Given the description of an element on the screen output the (x, y) to click on. 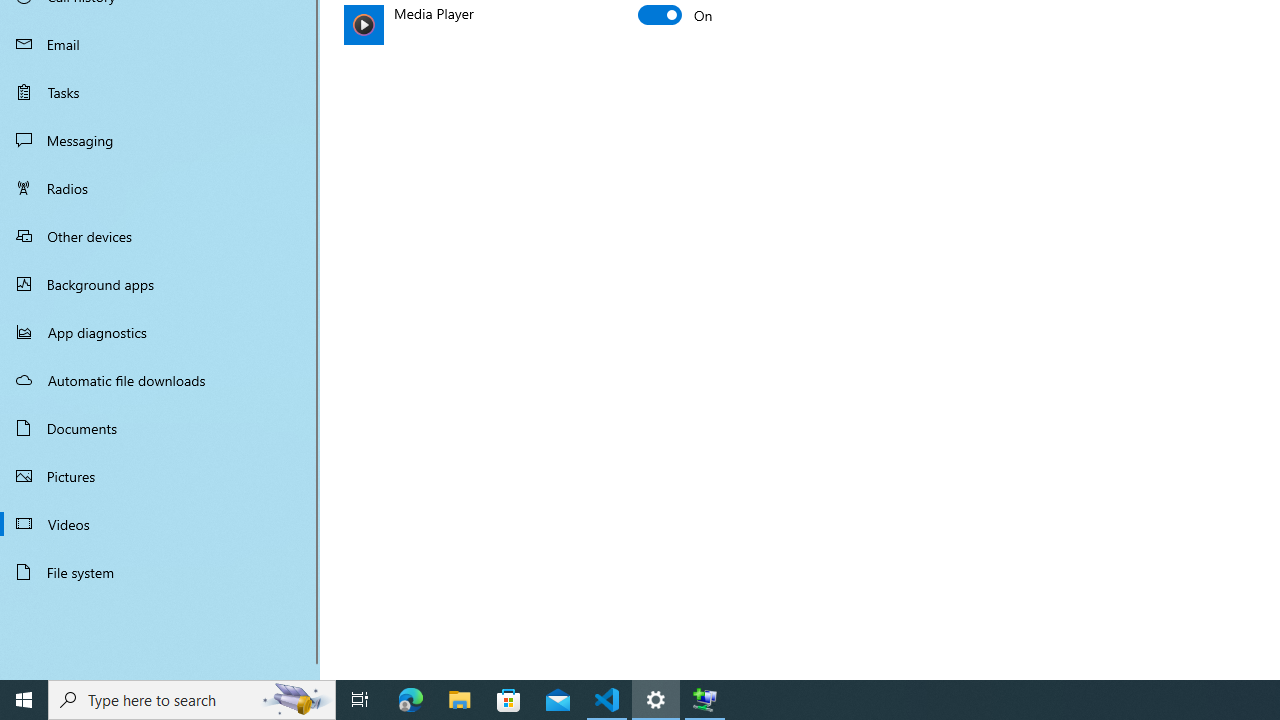
Videos (160, 523)
Background apps (160, 283)
App diagnostics (160, 331)
Other devices (160, 235)
